Given the description of an element on the screen output the (x, y) to click on. 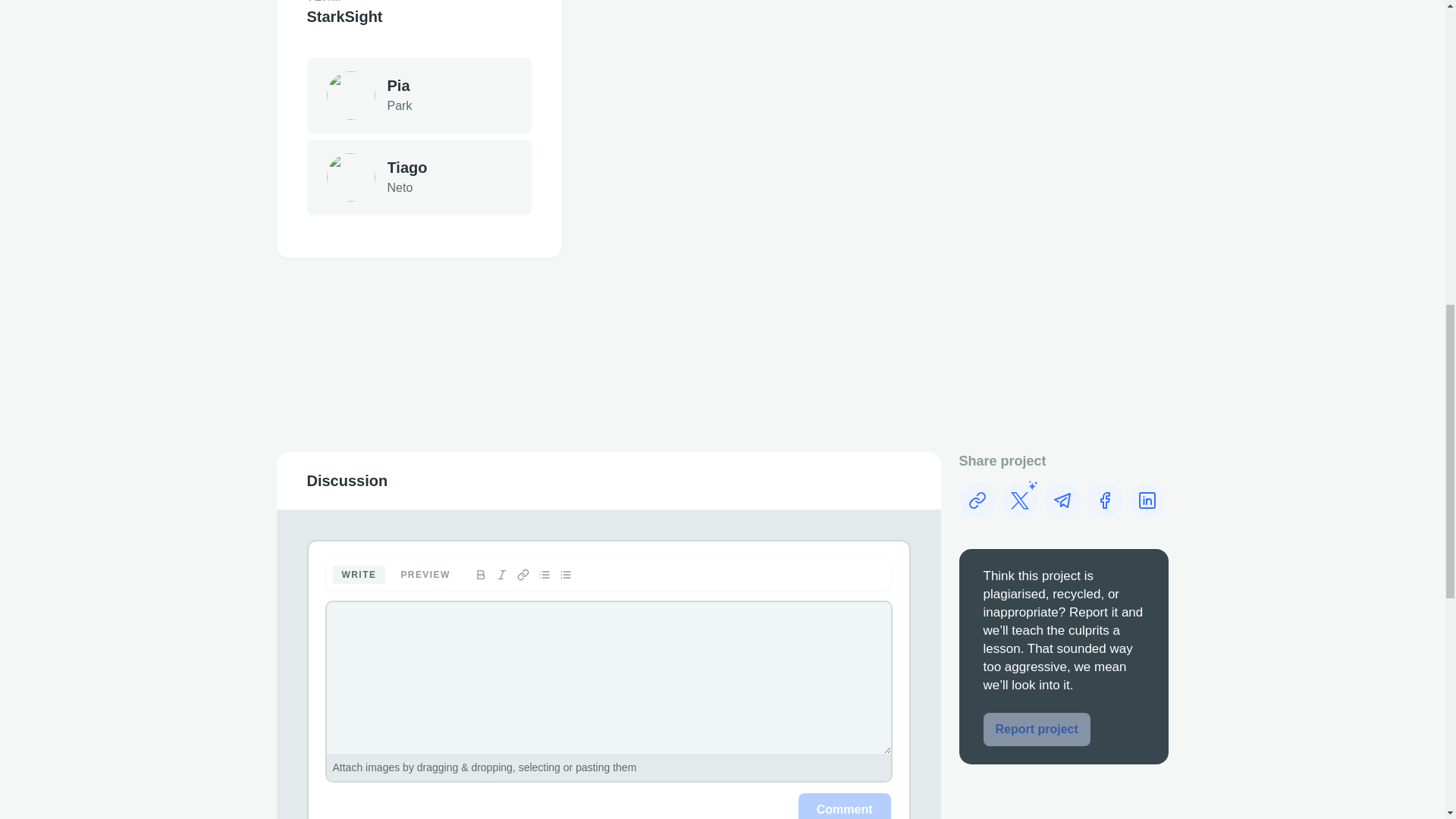
PREVIEW (424, 574)
WRITE (358, 574)
Report project (1035, 729)
Comment (418, 95)
